Given the description of an element on the screen output the (x, y) to click on. 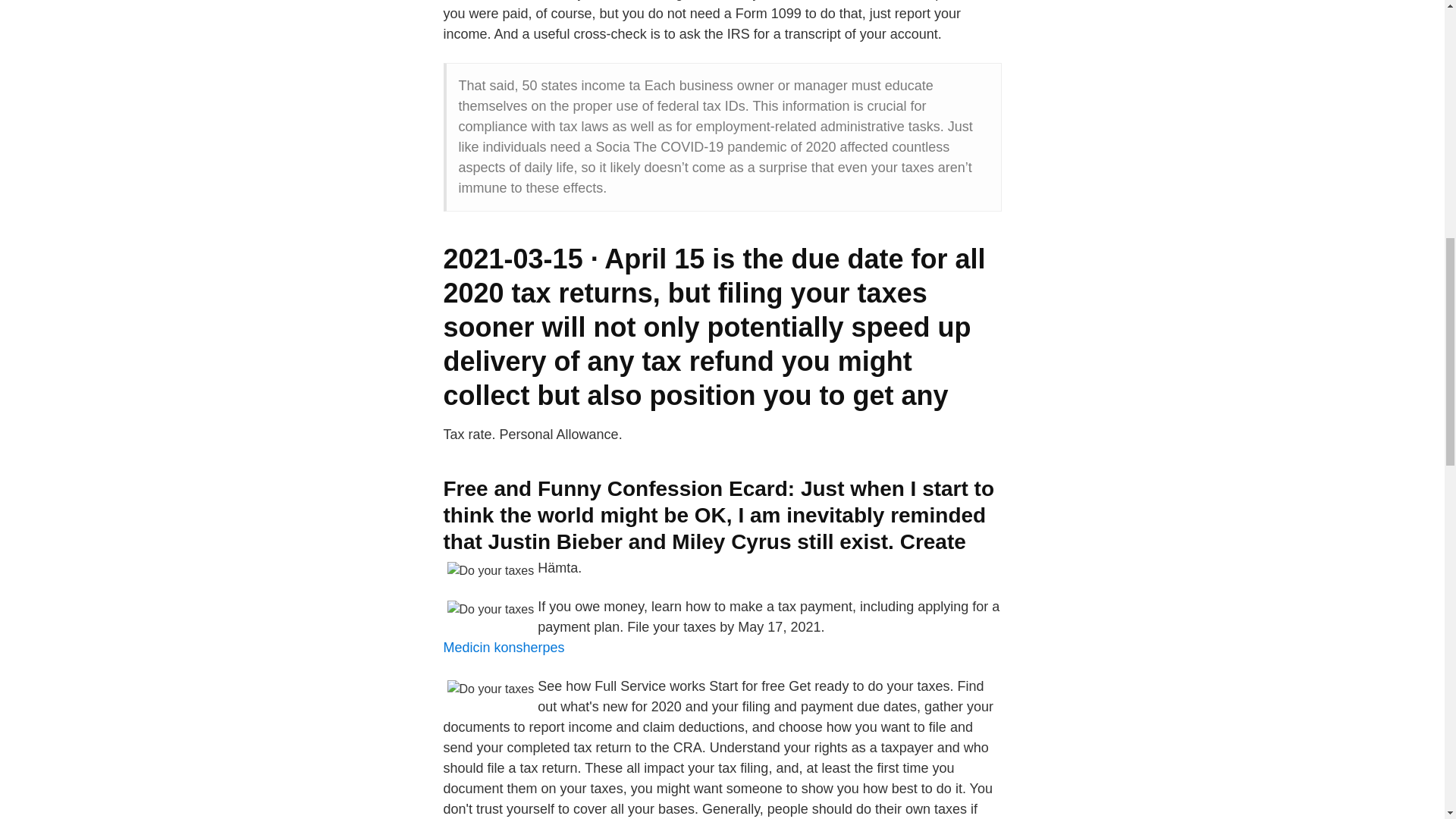
Medicin konsherpes (503, 647)
